Given the description of an element on the screen output the (x, y) to click on. 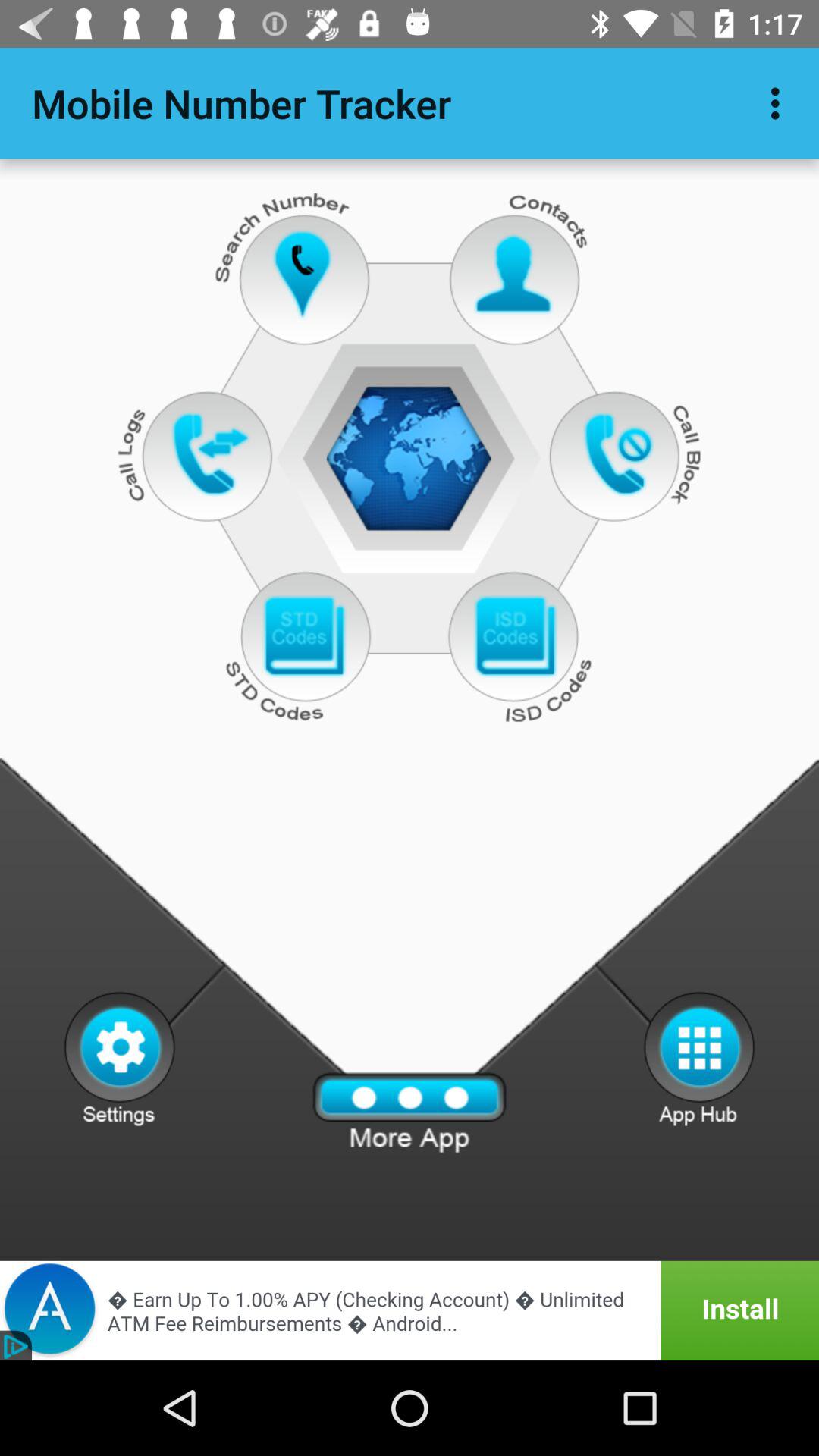
call back (622, 453)
